Given the description of an element on the screen output the (x, y) to click on. 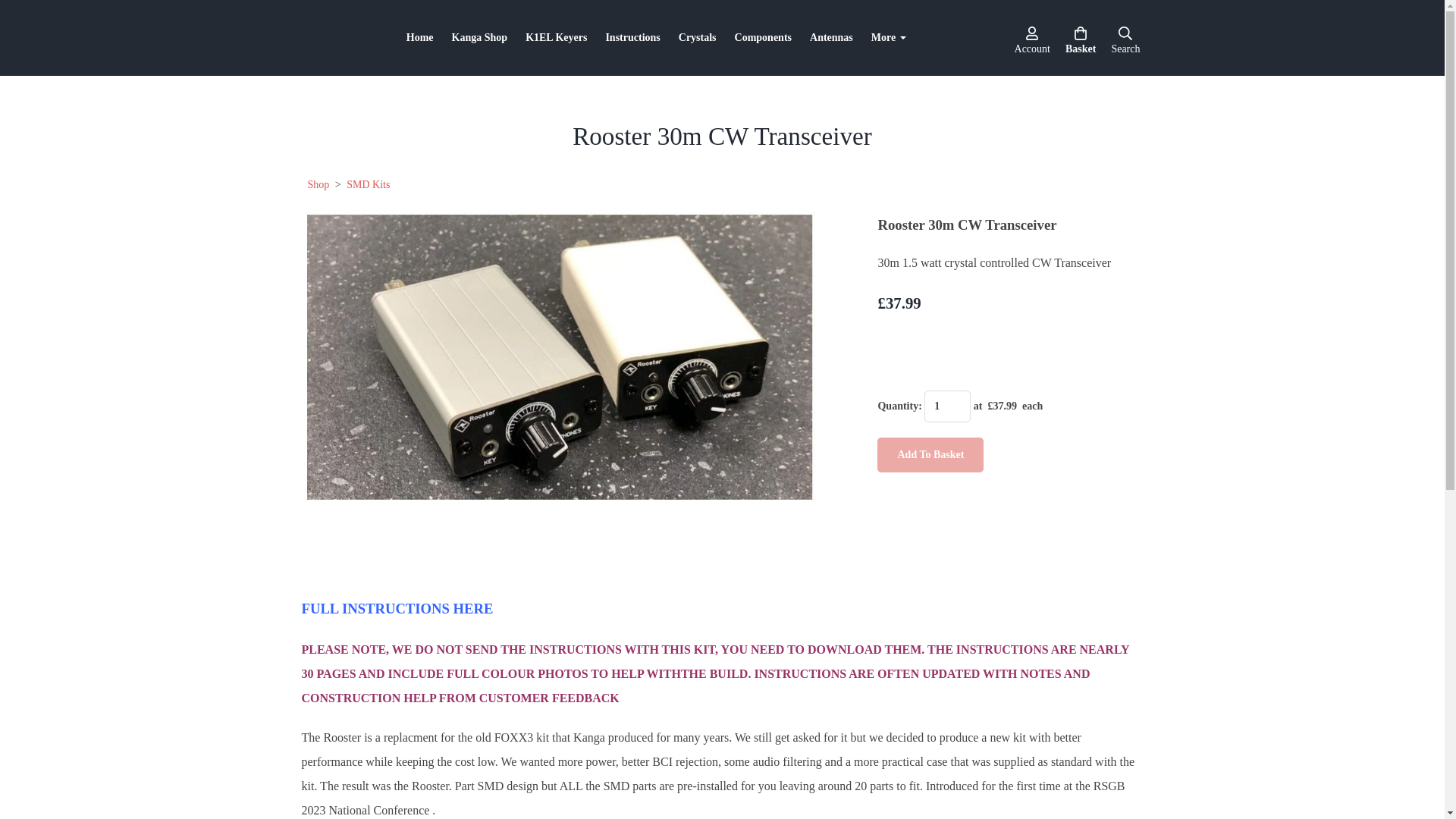
Kanga Shop (479, 37)
K1EL Keyers (555, 37)
FULL INSTRUCTIONS HERE (397, 608)
Account (1031, 37)
1 (947, 406)
Add To Basket (930, 454)
Search (1125, 37)
Shop (318, 184)
More (888, 37)
Home (419, 37)
SMD Kits (368, 184)
Components (762, 37)
Antennas (830, 37)
Instructions (631, 37)
Basket (1080, 37)
